Given the description of an element on the screen output the (x, y) to click on. 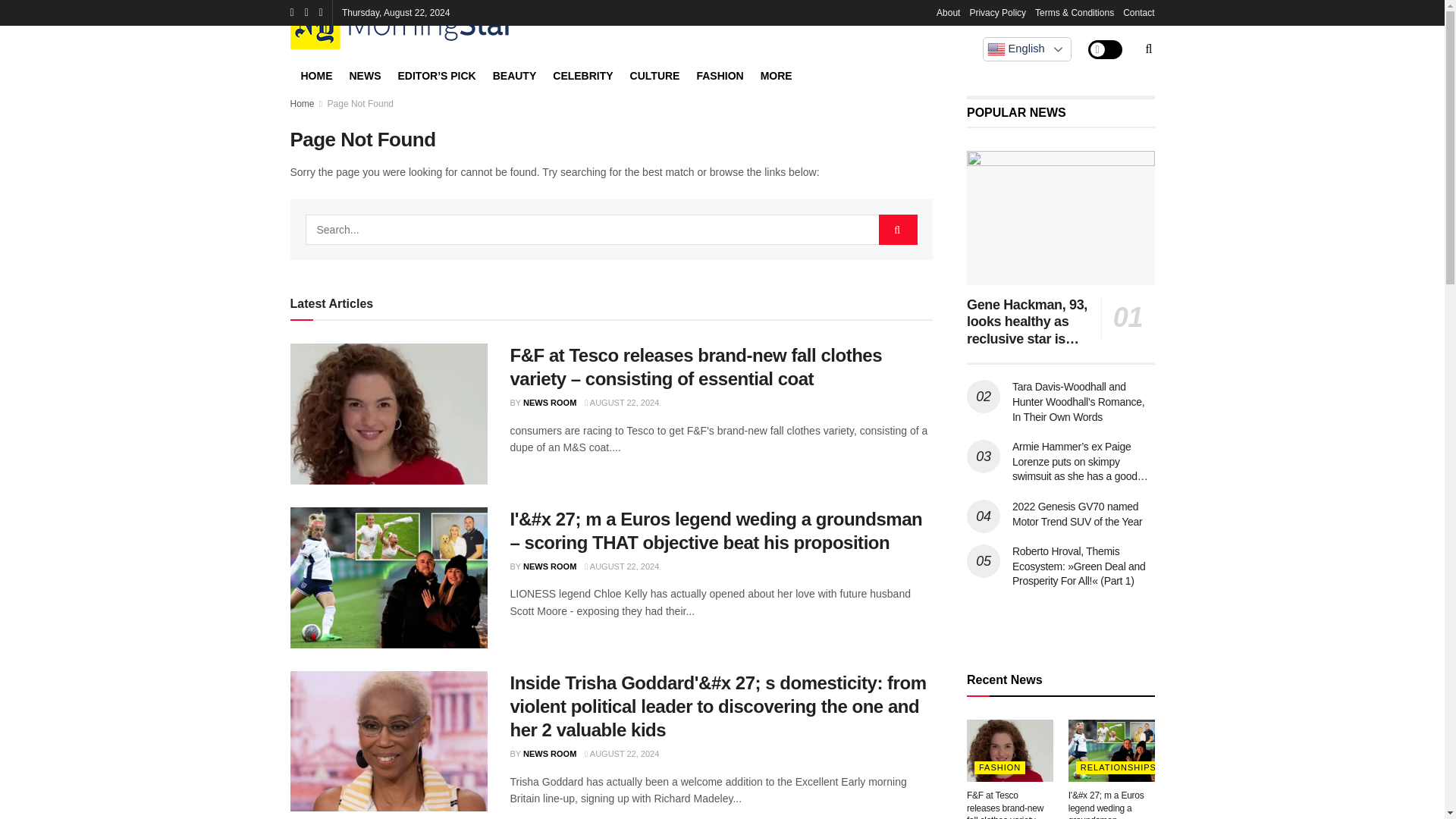
English (1026, 48)
Page Not Found (360, 103)
BEAUTY (515, 74)
Privacy Policy (997, 12)
Home (301, 103)
About (947, 12)
CULTURE (654, 74)
CELEBRITY (582, 74)
FASHION (718, 74)
Contact (1138, 12)
